Given the description of an element on the screen output the (x, y) to click on. 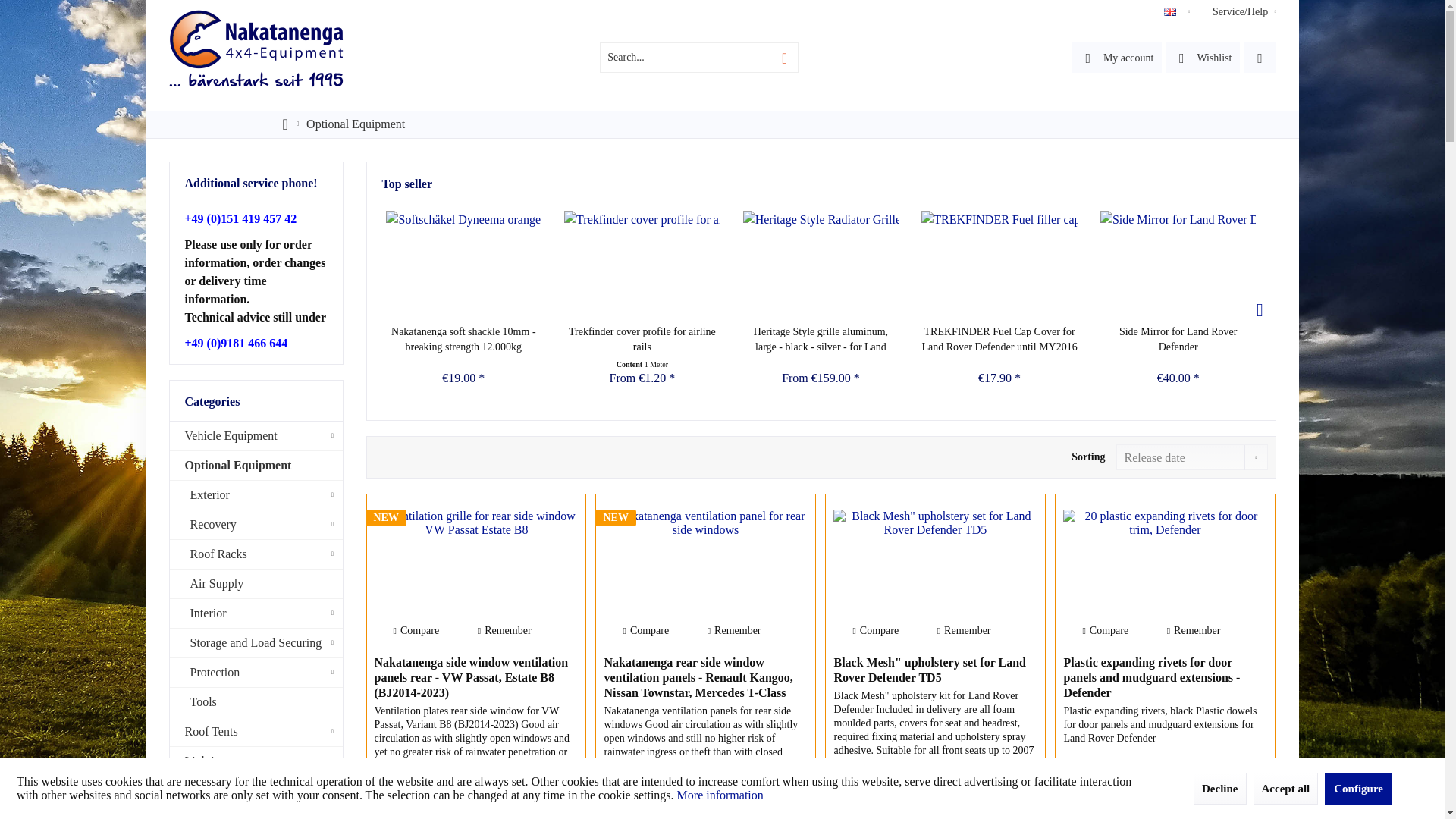
Recovery (256, 524)
Lighting (256, 761)
Protection (256, 672)
Roof Tents (256, 731)
Advice hotline (236, 342)
Roof Racks (256, 554)
Shopping cart (1259, 57)
Wishlist (1203, 57)
Optional Equipment (355, 123)
Air Supply (256, 583)
Tools (256, 702)
Interior (256, 613)
Service telephone (240, 218)
Wishlist (1203, 57)
Storage and Load Securing (256, 643)
